Given the description of an element on the screen output the (x, y) to click on. 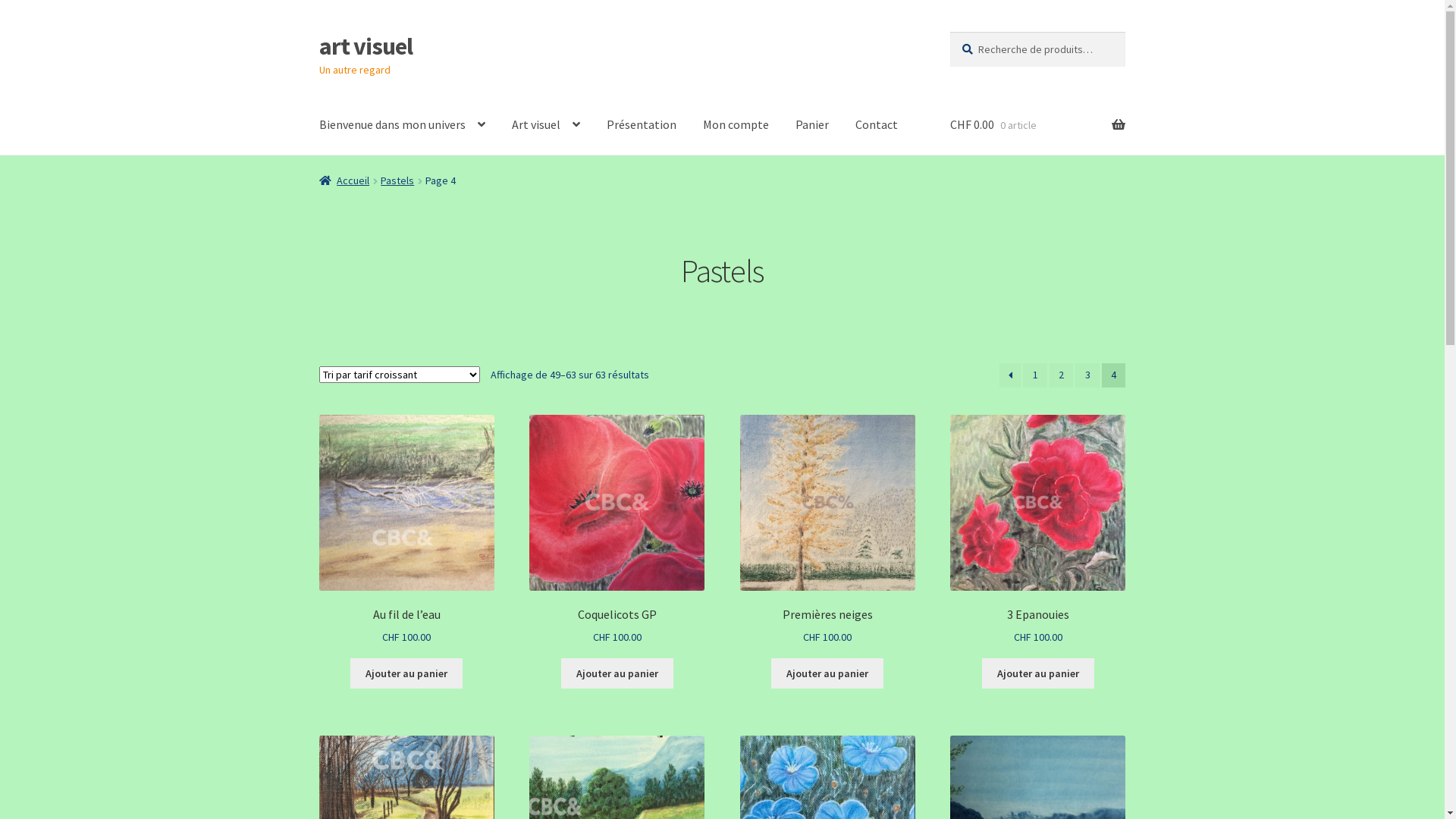
2 Element type: text (1061, 375)
Coquelicots GP
CHF 100.00 Element type: text (616, 530)
Panier Element type: text (811, 124)
Ajouter au panier Element type: text (406, 673)
Recherche Element type: text (949, 31)
CHF 0.00 0 article Element type: text (1037, 124)
1 Element type: text (1034, 375)
Accueil Element type: text (344, 180)
Ajouter au panier Element type: text (827, 673)
Bienvenue dans mon univers Element type: text (402, 124)
Art visuel Element type: text (545, 124)
Mon compte Element type: text (735, 124)
3 Element type: text (1087, 375)
Contact Element type: text (876, 124)
art visuel Element type: text (365, 46)
Ajouter au panier Element type: text (617, 673)
Ajouter au panier Element type: text (1038, 673)
3 Epanouies
CHF 100.00 Element type: text (1037, 530)
Pastels Element type: text (397, 180)
